Given the description of an element on the screen output the (x, y) to click on. 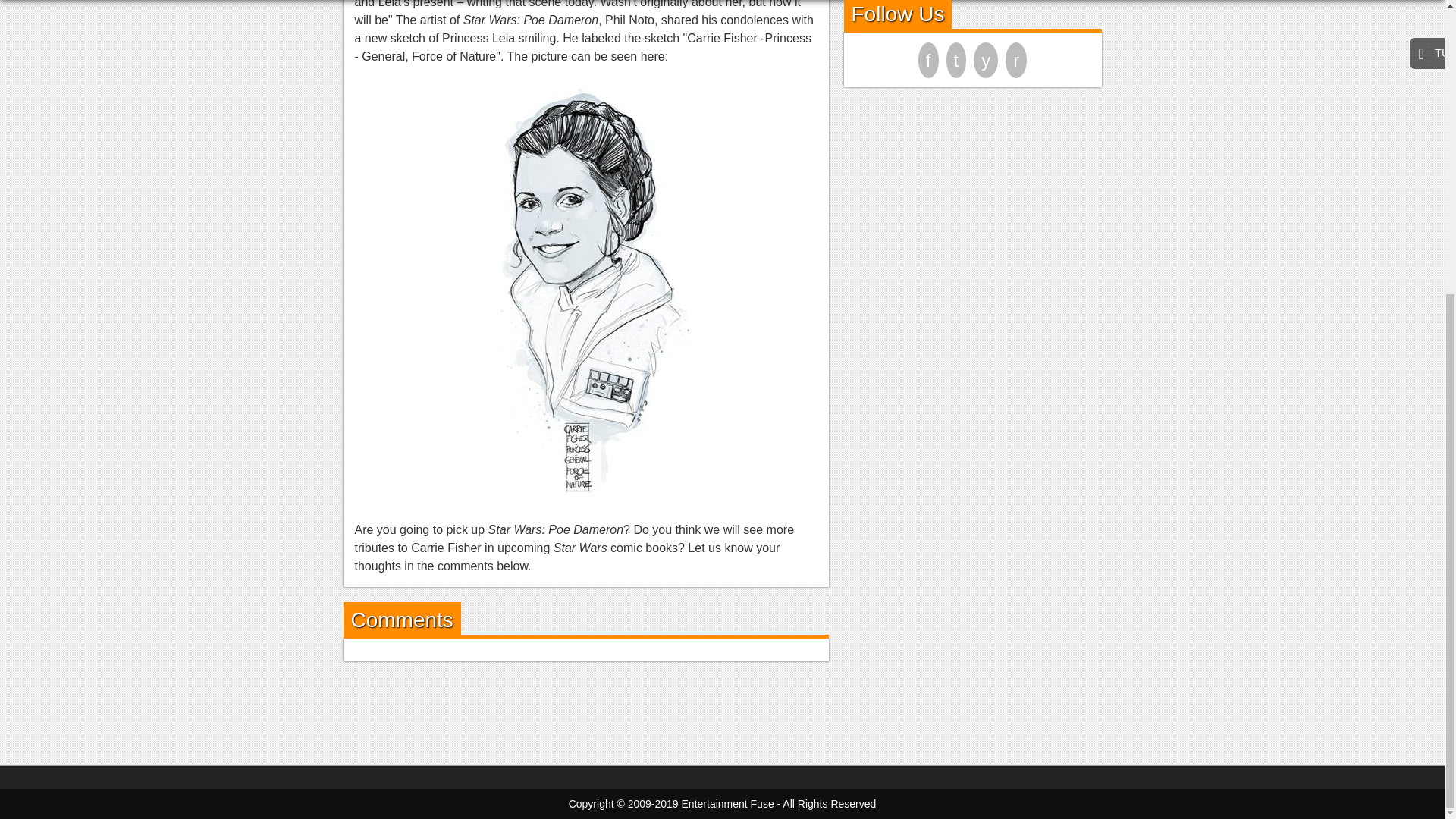
Advertisement (721, 710)
